Given the description of an element on the screen output the (x, y) to click on. 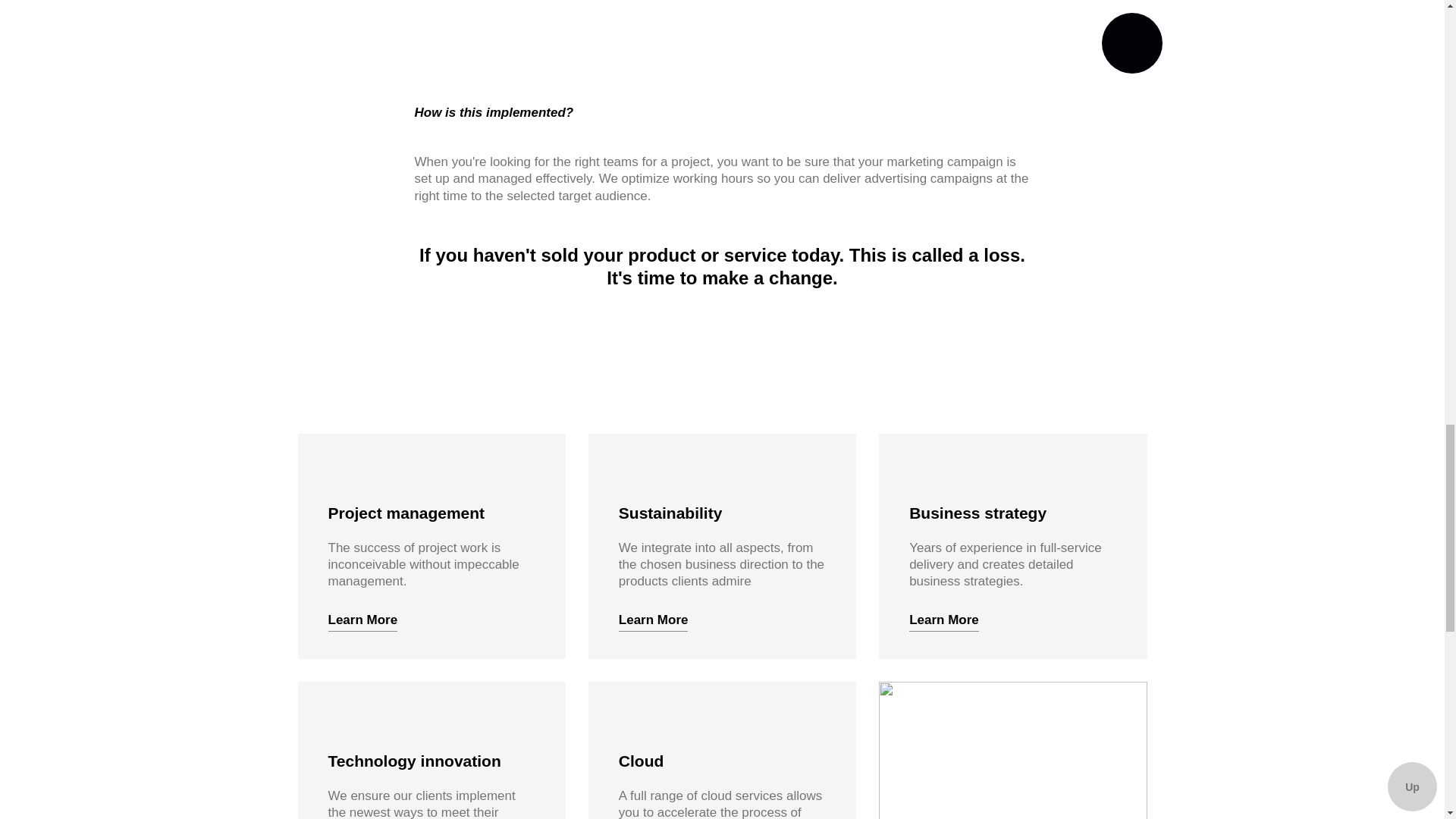
Learn More (362, 620)
Learn More (653, 620)
Learn More (943, 620)
